Given the description of an element on the screen output the (x, y) to click on. 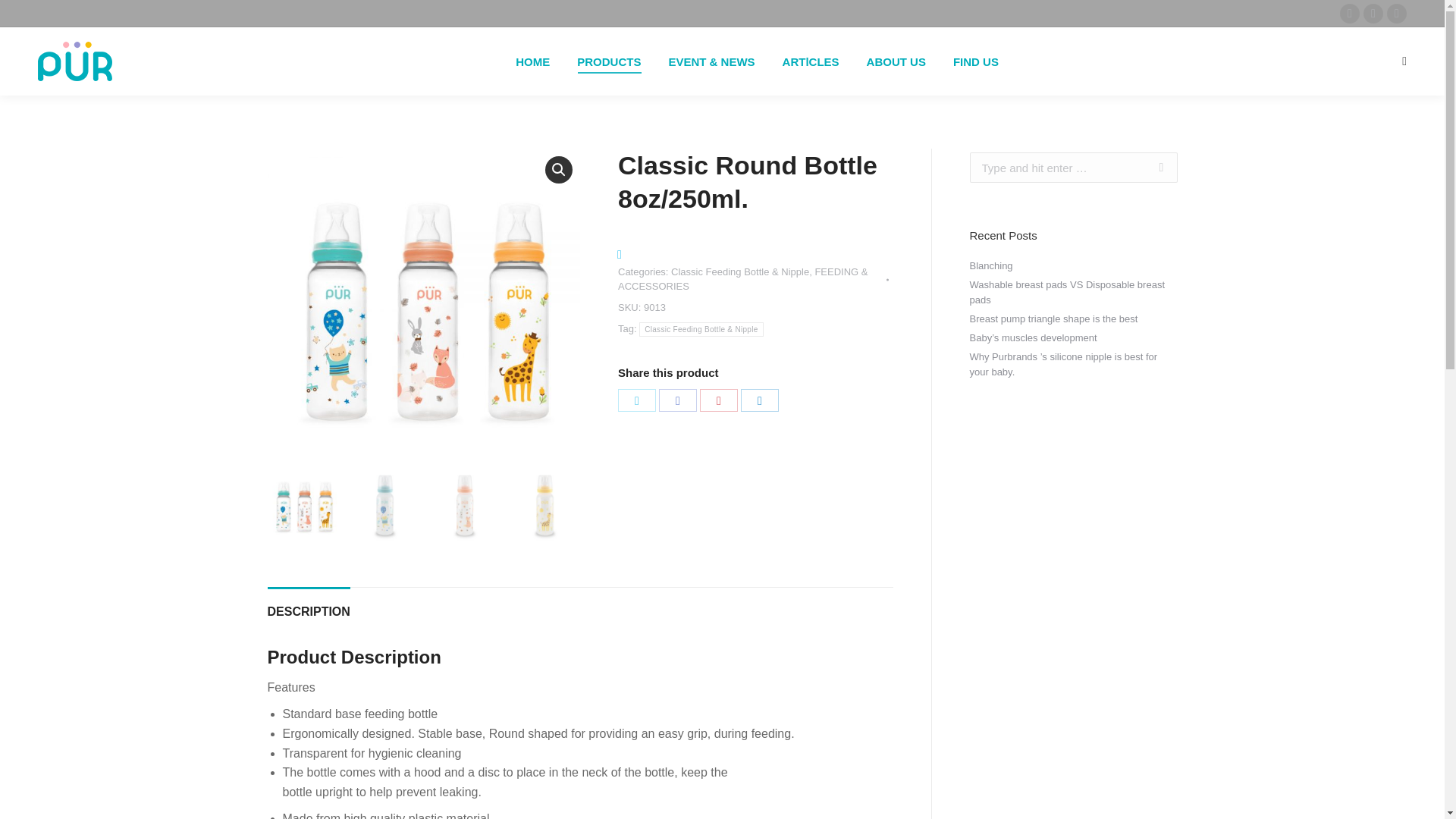
Instagram page opens in new window (1396, 13)
Facebook page opens in new window (1349, 13)
Facebook page opens in new window (1349, 13)
Instagram page opens in new window (1396, 13)
Go! (24, 16)
PRODUCTS (608, 60)
Twitter page opens in new window (1372, 13)
FIND US (975, 60)
Go! (1153, 167)
ABOUT US (895, 60)
Facebook (678, 400)
HOME (532, 60)
Twitter page opens in new window (1372, 13)
ARTlCLES (810, 60)
Go! (1153, 167)
